Given the description of an element on the screen output the (x, y) to click on. 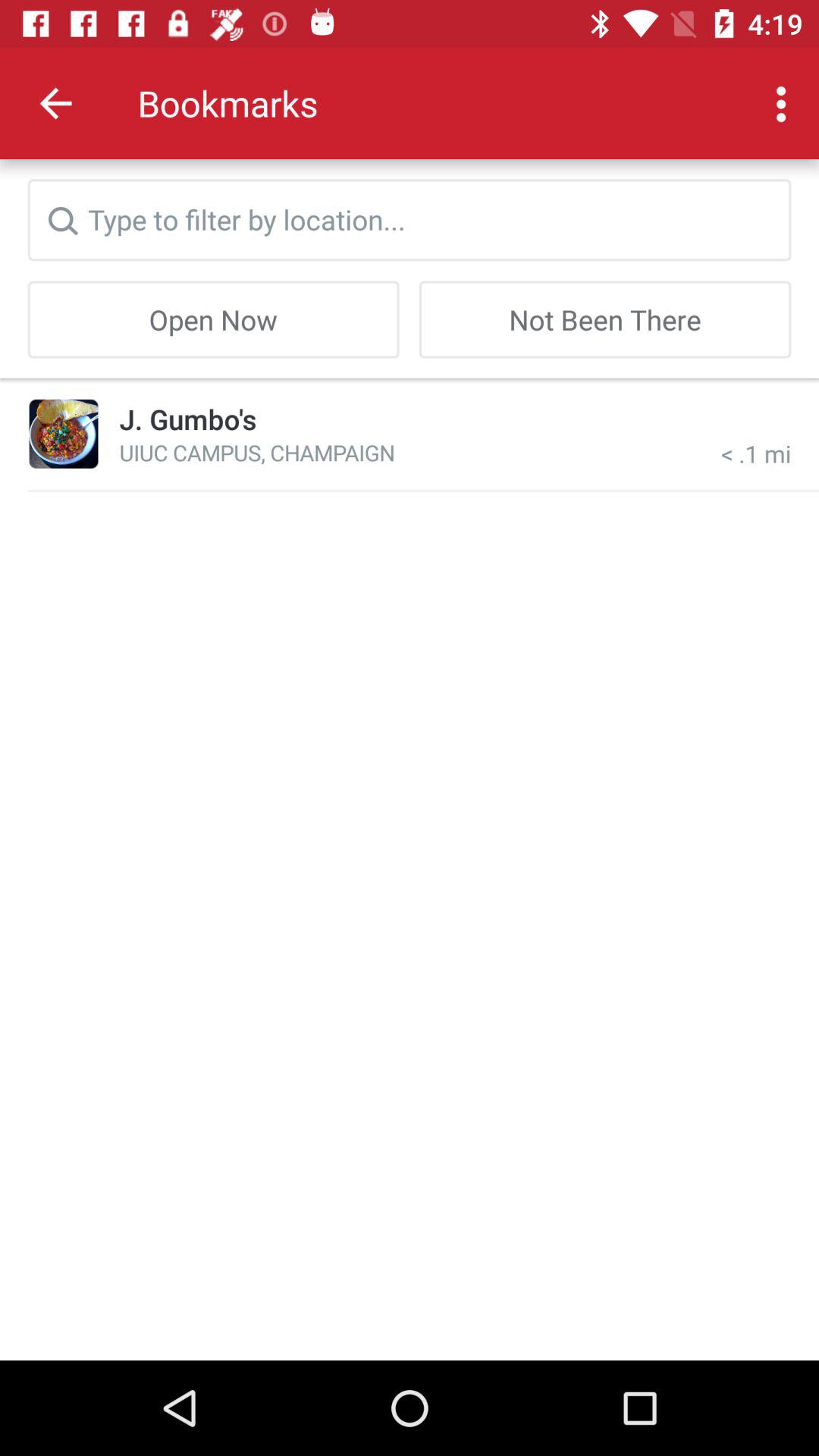
choose the item to the left of < .1 mi (256, 452)
